Given the description of an element on the screen output the (x, y) to click on. 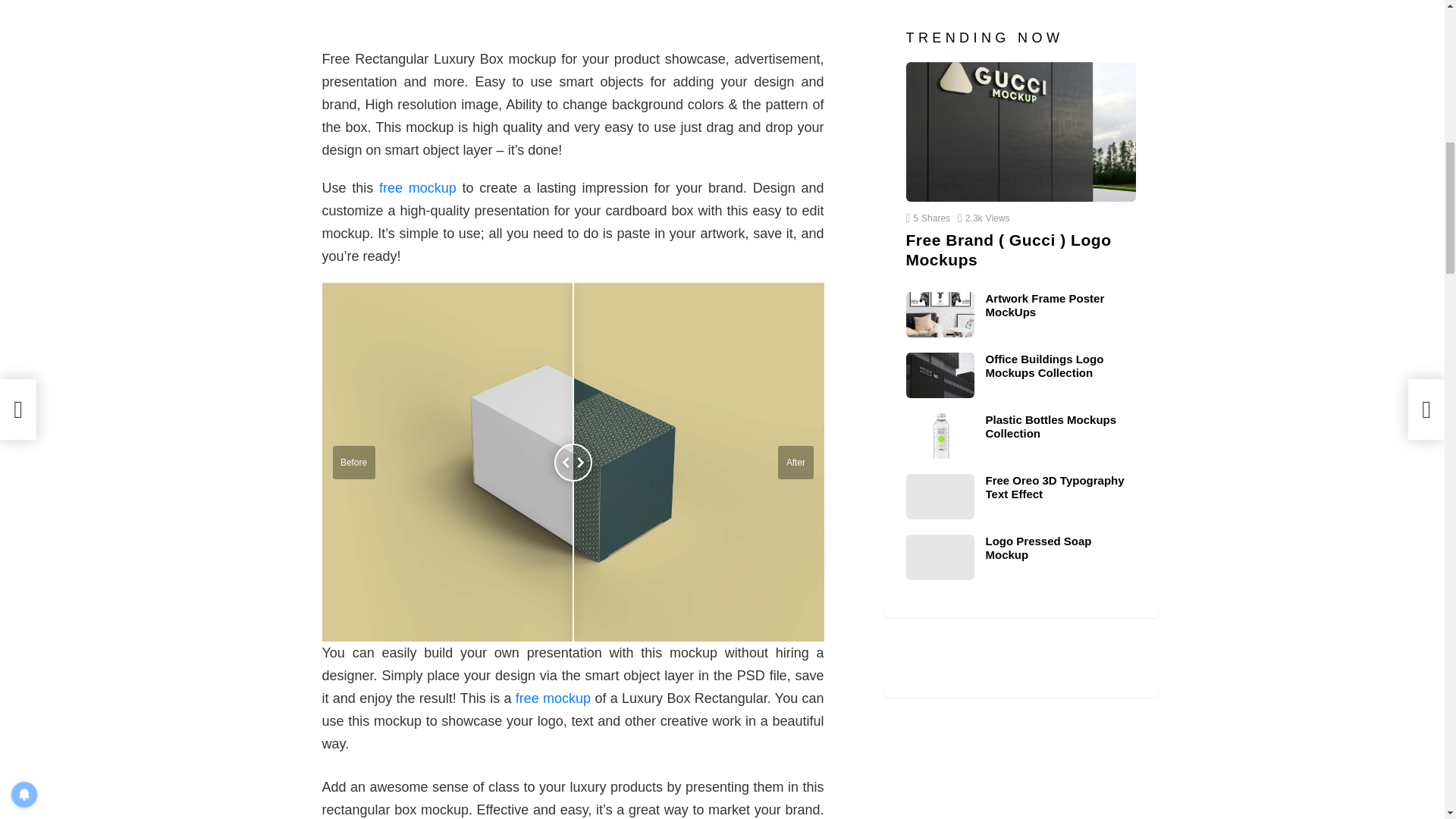
free mockup (417, 187)
